Given the description of an element on the screen output the (x, y) to click on. 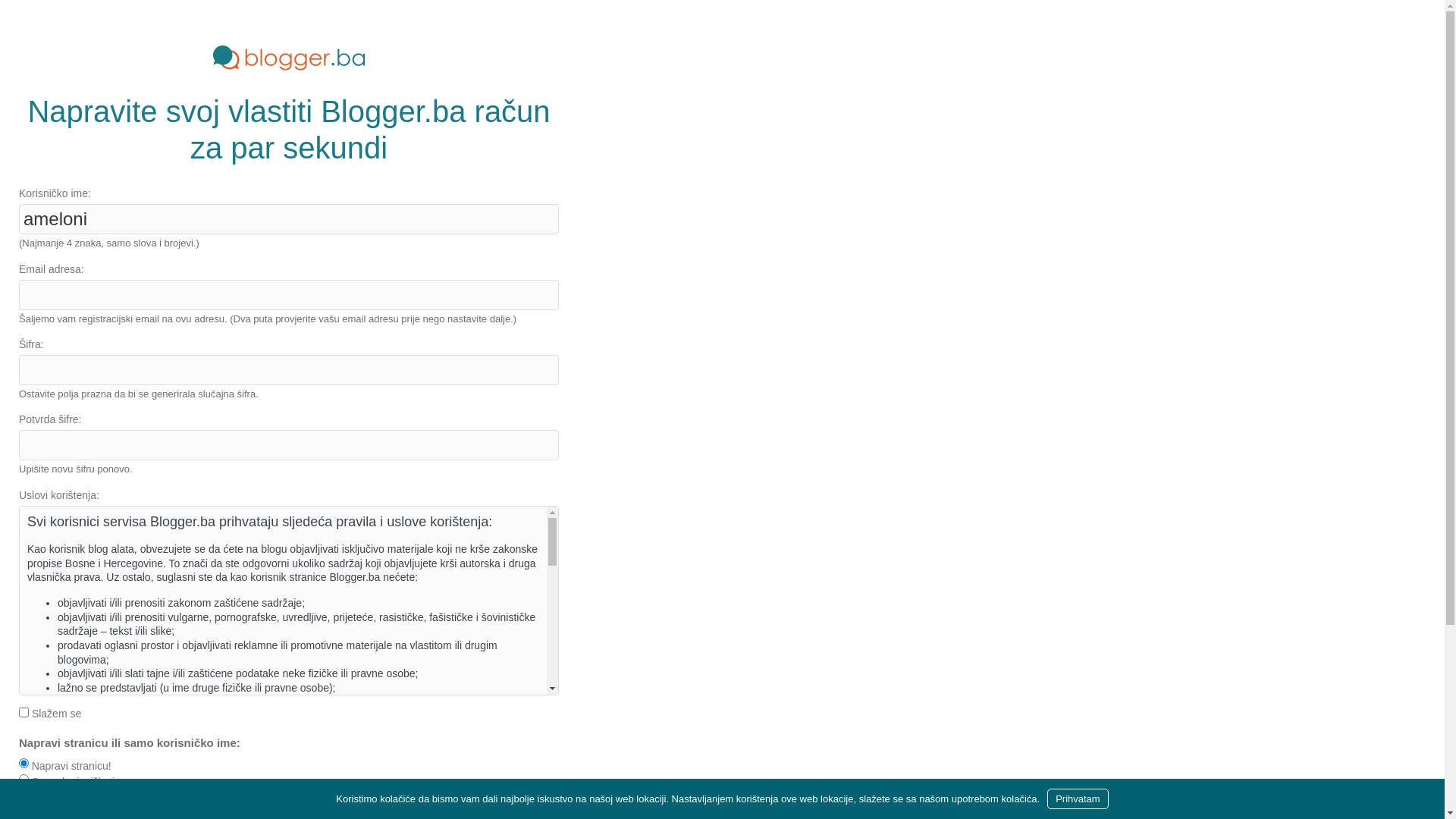
Prihvatam Element type: text (1077, 798)
